Given the description of an element on the screen output the (x, y) to click on. 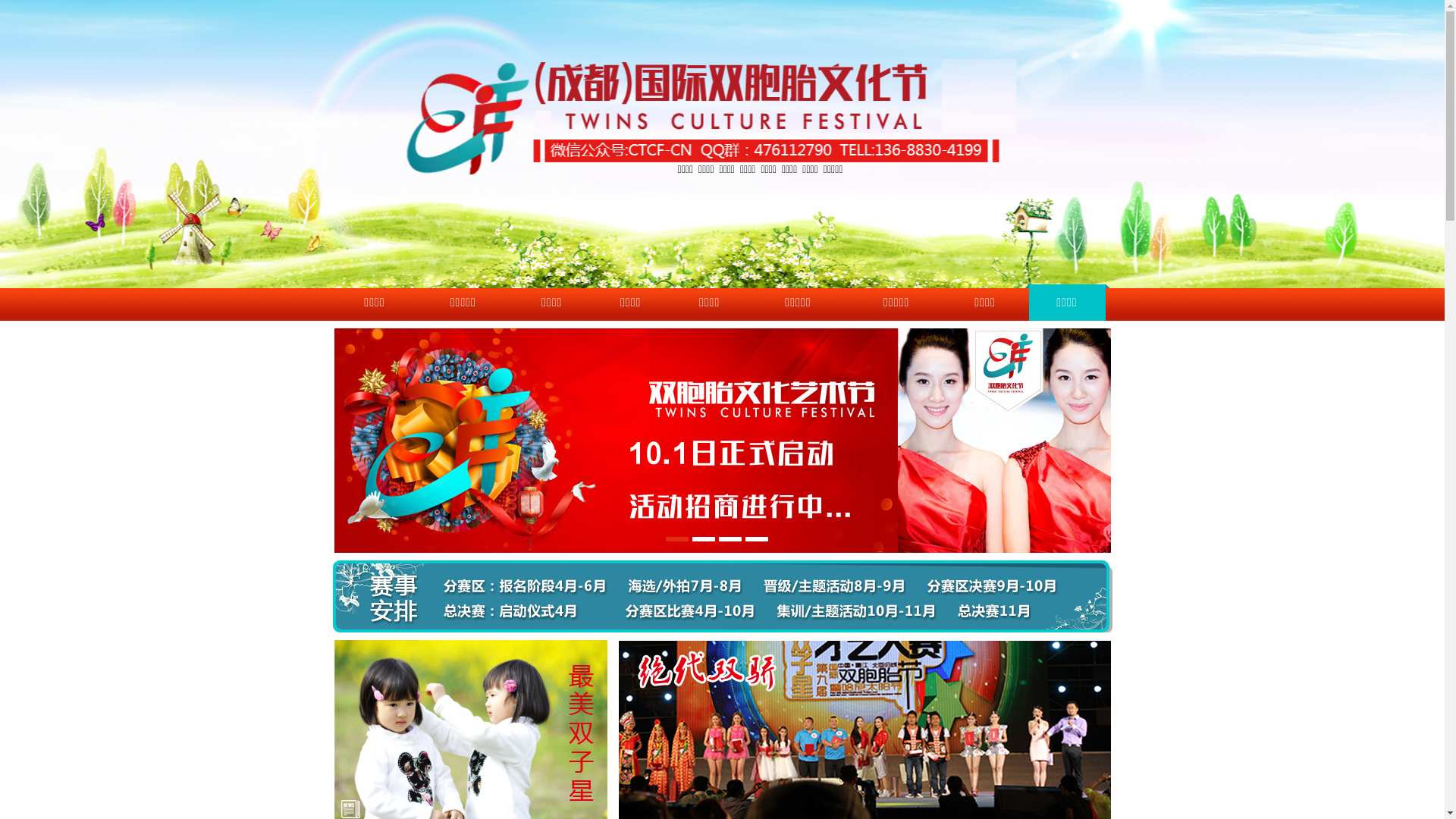
3 Element type: text (729, 538)
1 Element type: text (676, 538)
2 Element type: text (703, 538)
4 Element type: text (756, 538)
